Given the description of an element on the screen output the (x, y) to click on. 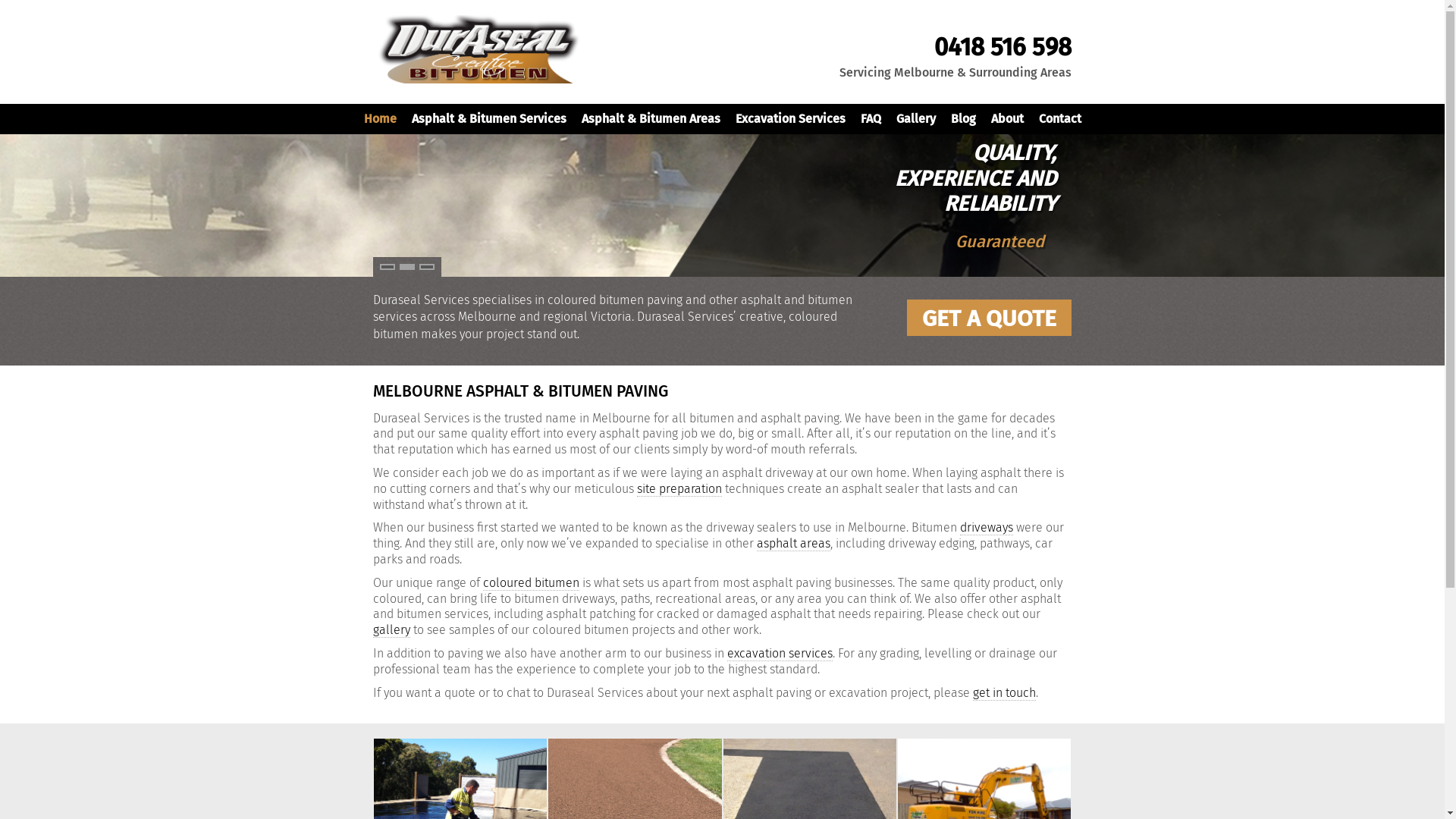
site preparation Element type: text (679, 488)
gallery Element type: text (391, 629)
get in touch Element type: text (1003, 692)
Gallery Element type: text (915, 118)
asphalt areas Element type: text (793, 543)
Asphalt & Bitumen Areas Element type: text (650, 118)
Home Element type: text (380, 118)
driveways Element type: text (986, 527)
FAQ Element type: text (870, 118)
coloured bitumen Element type: text (531, 582)
GET A QUOTE Element type: text (988, 317)
Contact Element type: text (1059, 118)
Excavation Services Element type: text (790, 118)
About Element type: text (1006, 118)
Blog Element type: text (963, 118)
Asphalt & Bitumen Services Element type: text (488, 118)
excavation services Element type: text (779, 653)
